Given the description of an element on the screen output the (x, y) to click on. 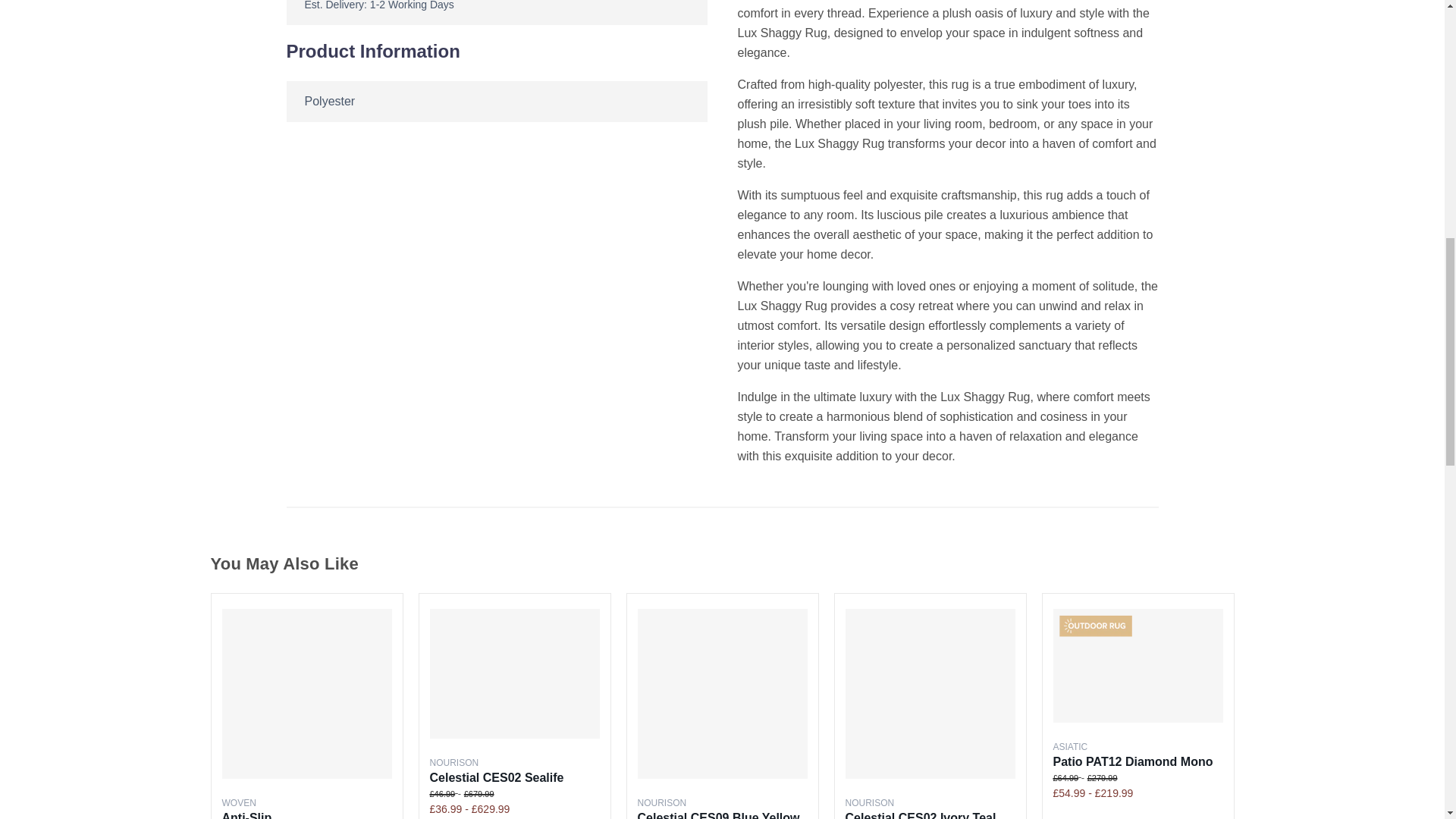
Nourison (868, 802)
Nourison (661, 802)
Nourison (454, 762)
Woven (238, 802)
Asiatic (1069, 747)
